Given the description of an element on the screen output the (x, y) to click on. 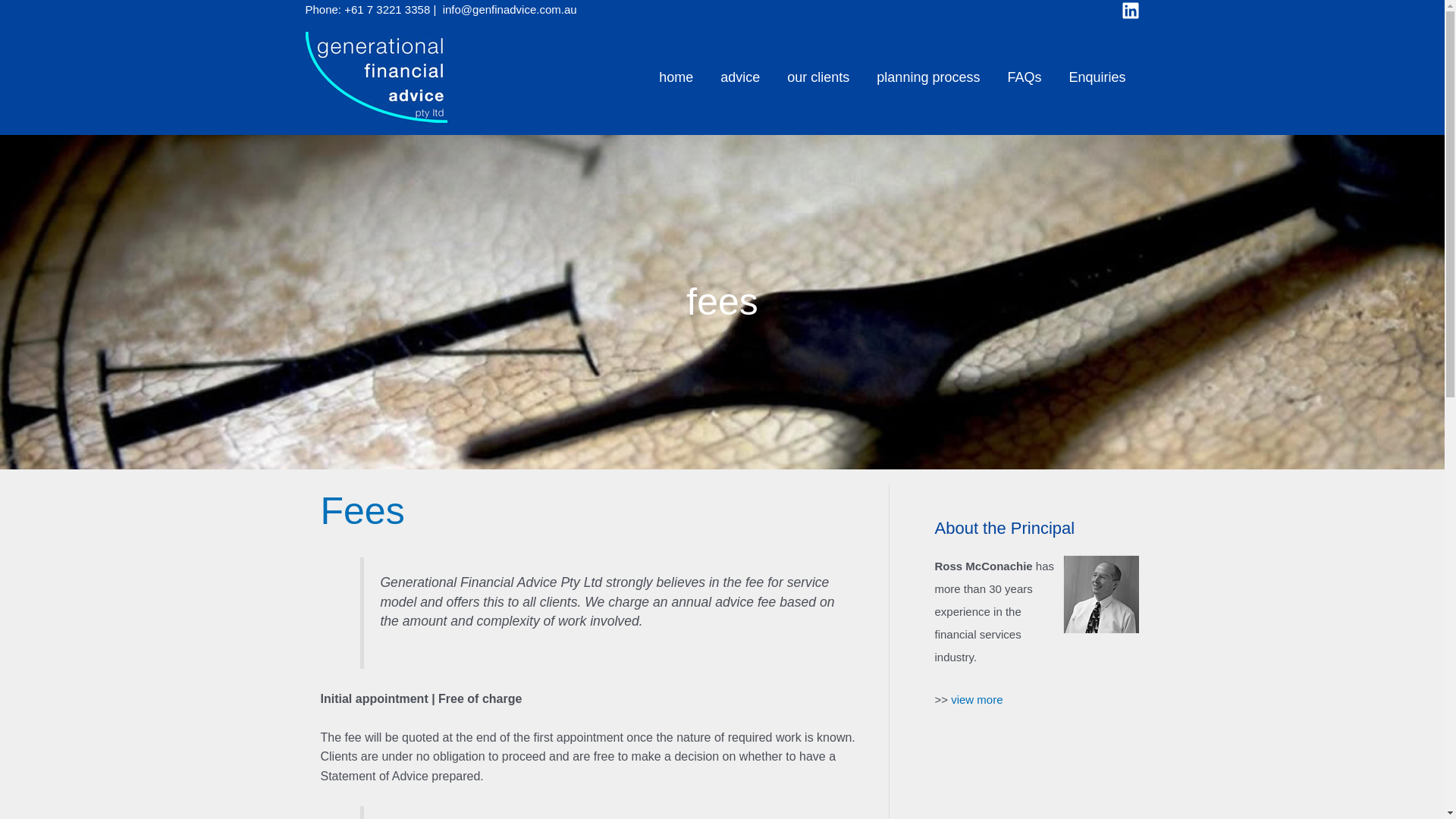
advice Element type: text (739, 77)
info@genfinadvice.com.au Element type: text (509, 9)
planning process Element type: text (927, 77)
home Element type: text (675, 77)
view more Element type: text (976, 699)
FAQs Element type: text (1023, 77)
our clients Element type: text (817, 77)
Enquiries Element type: text (1096, 77)
